Given the description of an element on the screen output the (x, y) to click on. 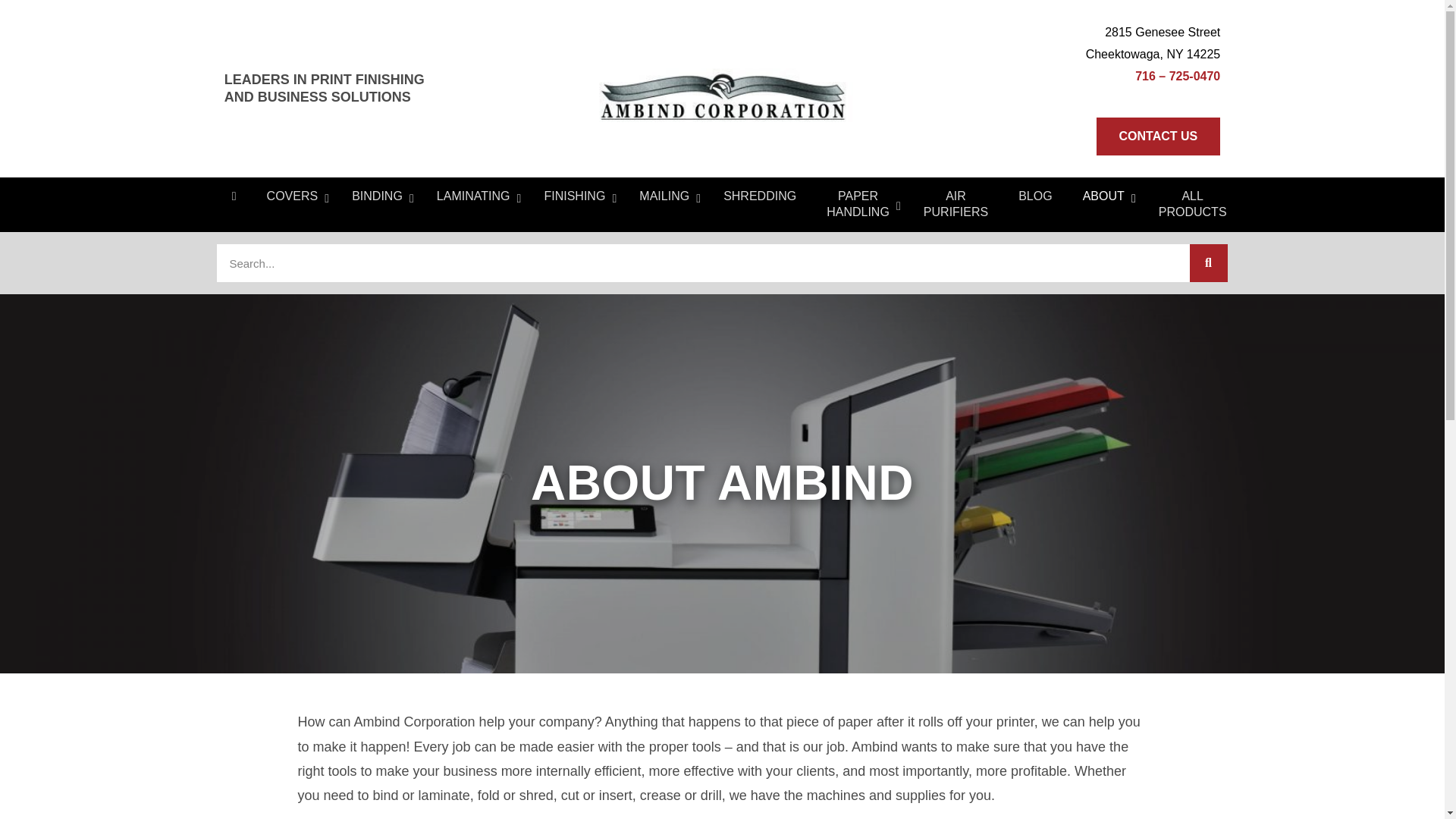
CONTACT US (1158, 136)
BINDING (379, 196)
LAMINATING (475, 196)
FINISHING (576, 196)
COVERS (294, 196)
